Given the description of an element on the screen output the (x, y) to click on. 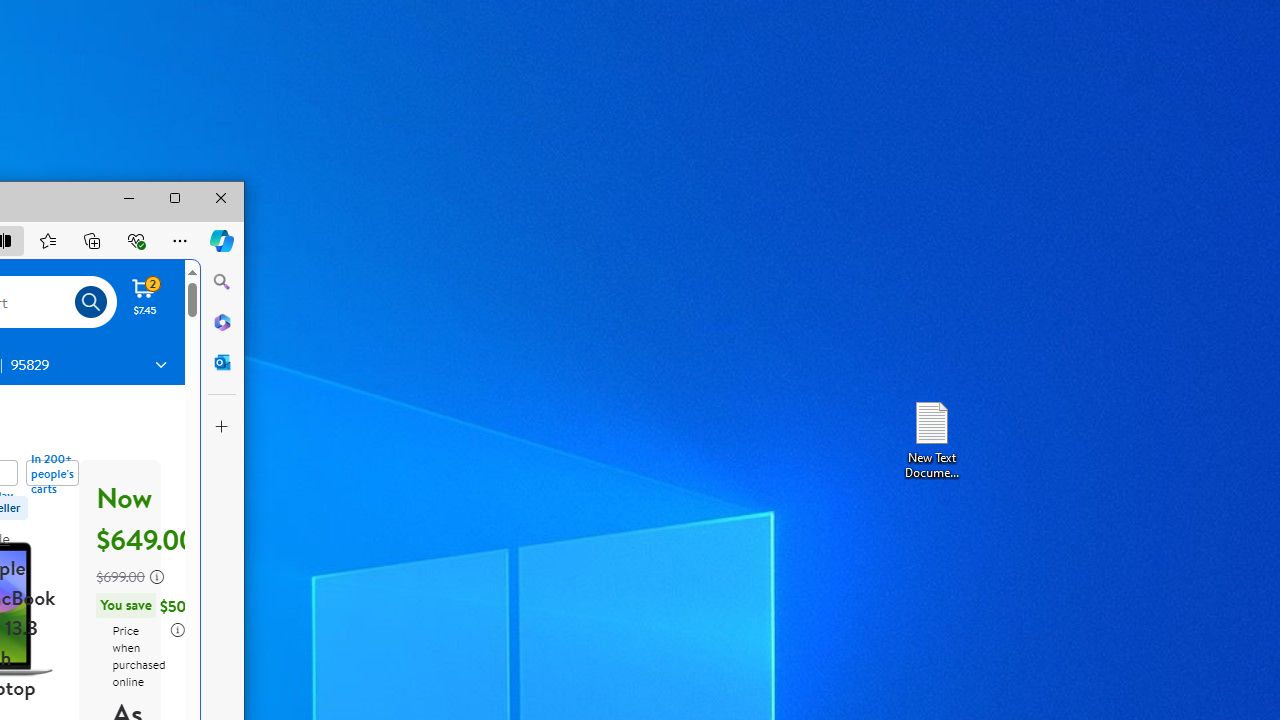
legal information (176, 629)
